Given the description of an element on the screen output the (x, y) to click on. 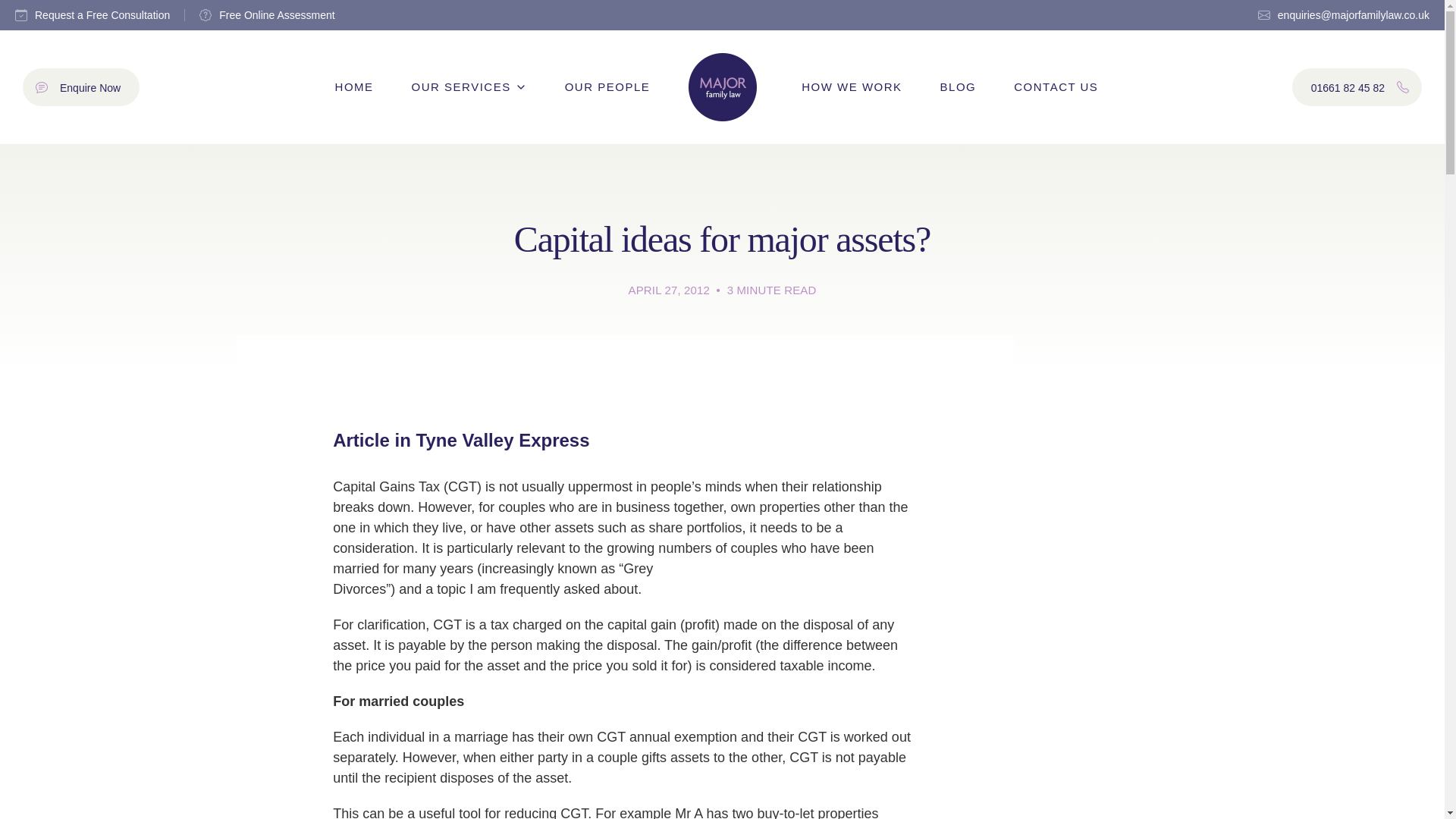
Enquire Now (92, 15)
Free Online Assessment (81, 86)
HOME (267, 15)
OUR SERVICES (354, 87)
